Given the description of an element on the screen output the (x, y) to click on. 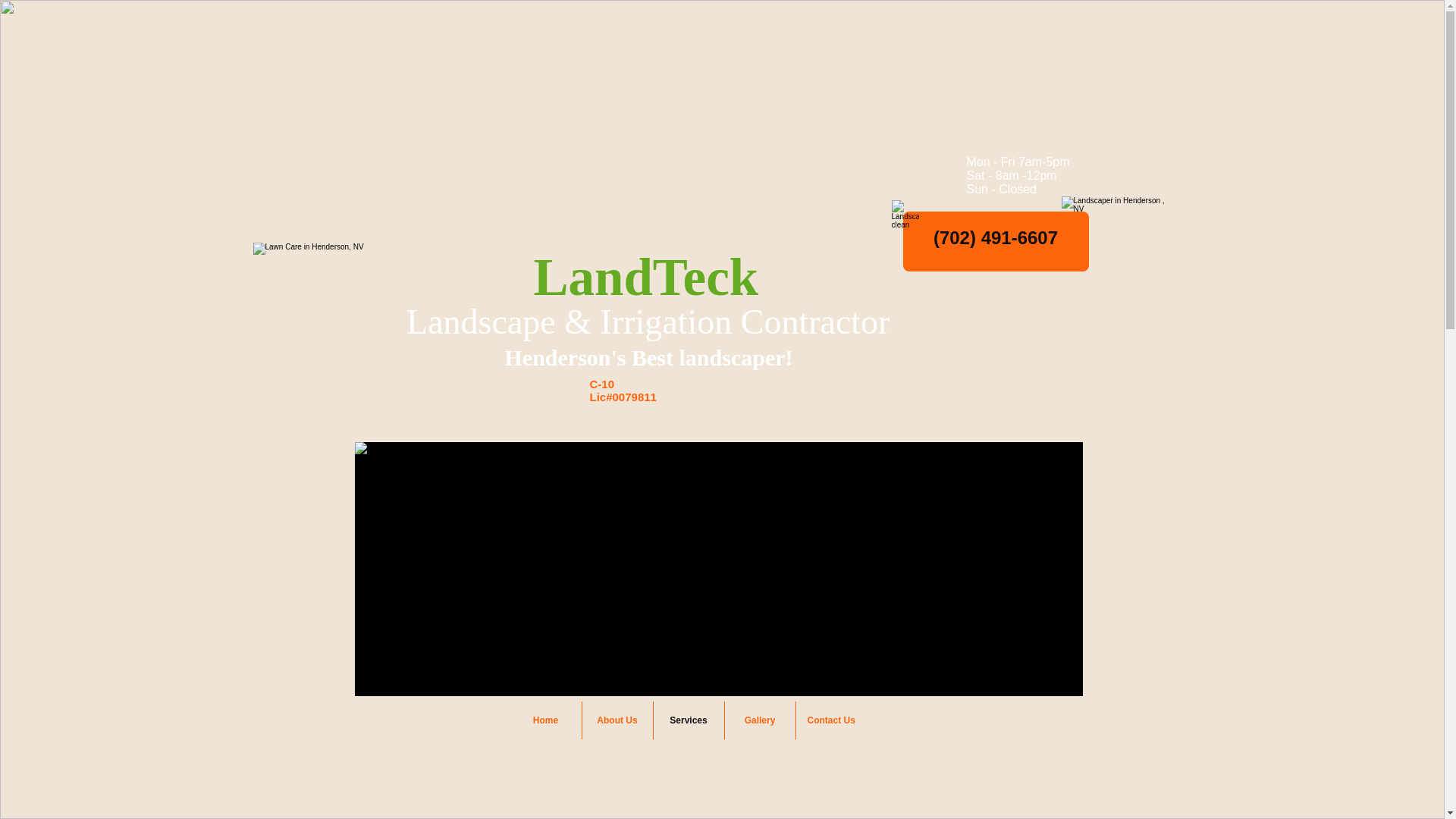
Services (688, 720)
Contact Us (831, 720)
Home (544, 720)
About Us (617, 720)
Gallery (759, 720)
